Given the description of an element on the screen output the (x, y) to click on. 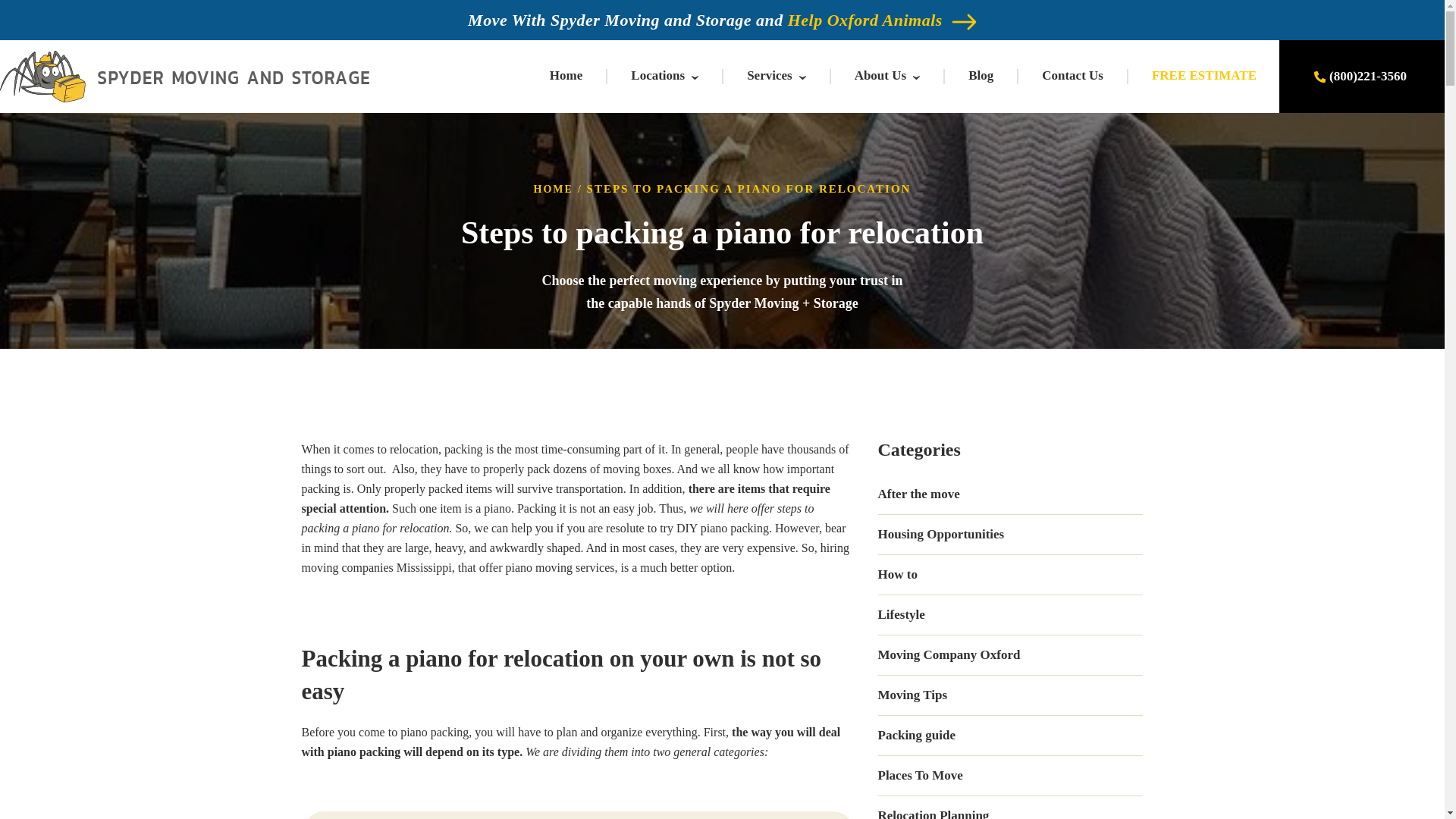
Contact Us (1072, 75)
FREE ESTIMATE (1203, 75)
About Us (880, 75)
HOME (553, 188)
Locations (657, 75)
Services (769, 75)
moving companies Mississippi (376, 567)
